Given the description of an element on the screen output the (x, y) to click on. 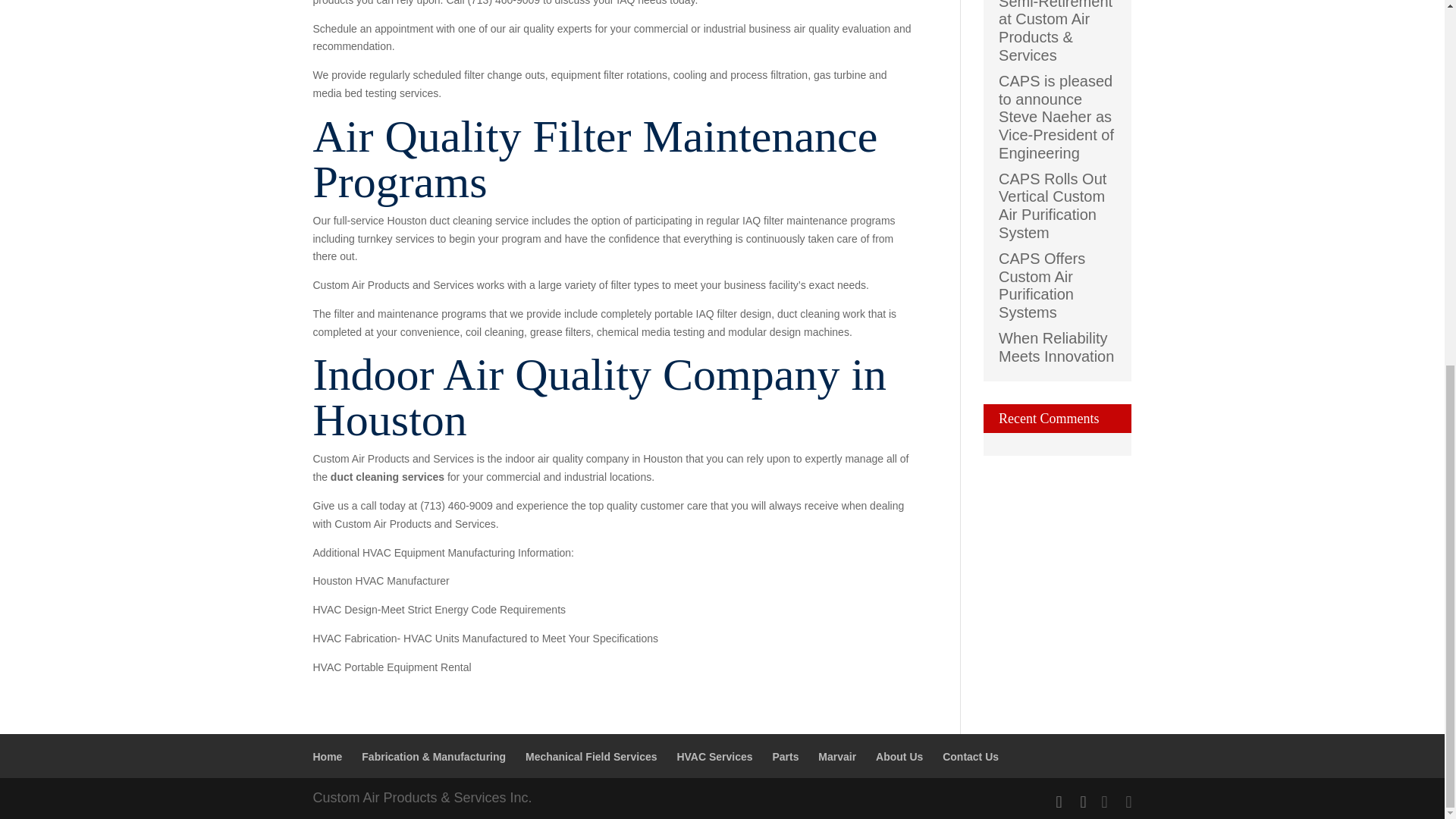
When Reliability Meets Innovation (1055, 347)
Home (327, 756)
CAPS Offers Custom Air Purification Systems (1041, 285)
CAPS Rolls Out Vertical Custom Air Purification System (1052, 205)
